Given the description of an element on the screen output the (x, y) to click on. 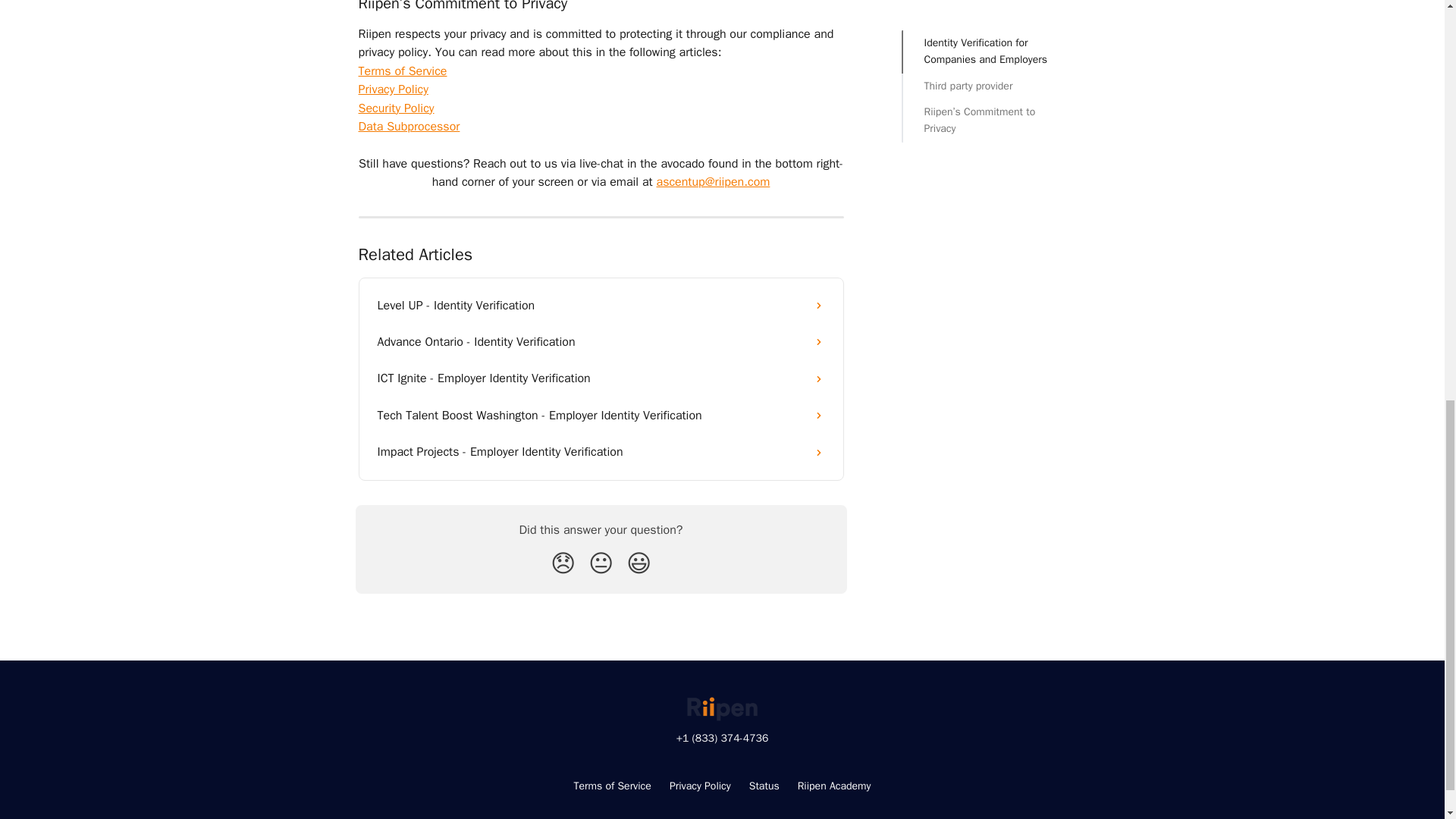
Data Subprocessor (409, 126)
Terms of Service (402, 70)
Privacy Policy (699, 785)
Terms of Service (611, 785)
Security Policy (395, 107)
Level UP - Identity Verification (601, 304)
ICT Ignite - Employer Identity Verification (601, 378)
Riipen Academy (833, 785)
Advance Ontario - Identity Verification (601, 341)
Status (763, 785)
Impact Projects - Employer Identity Verification (601, 452)
Privacy Policy (393, 89)
